Given the description of an element on the screen output the (x, y) to click on. 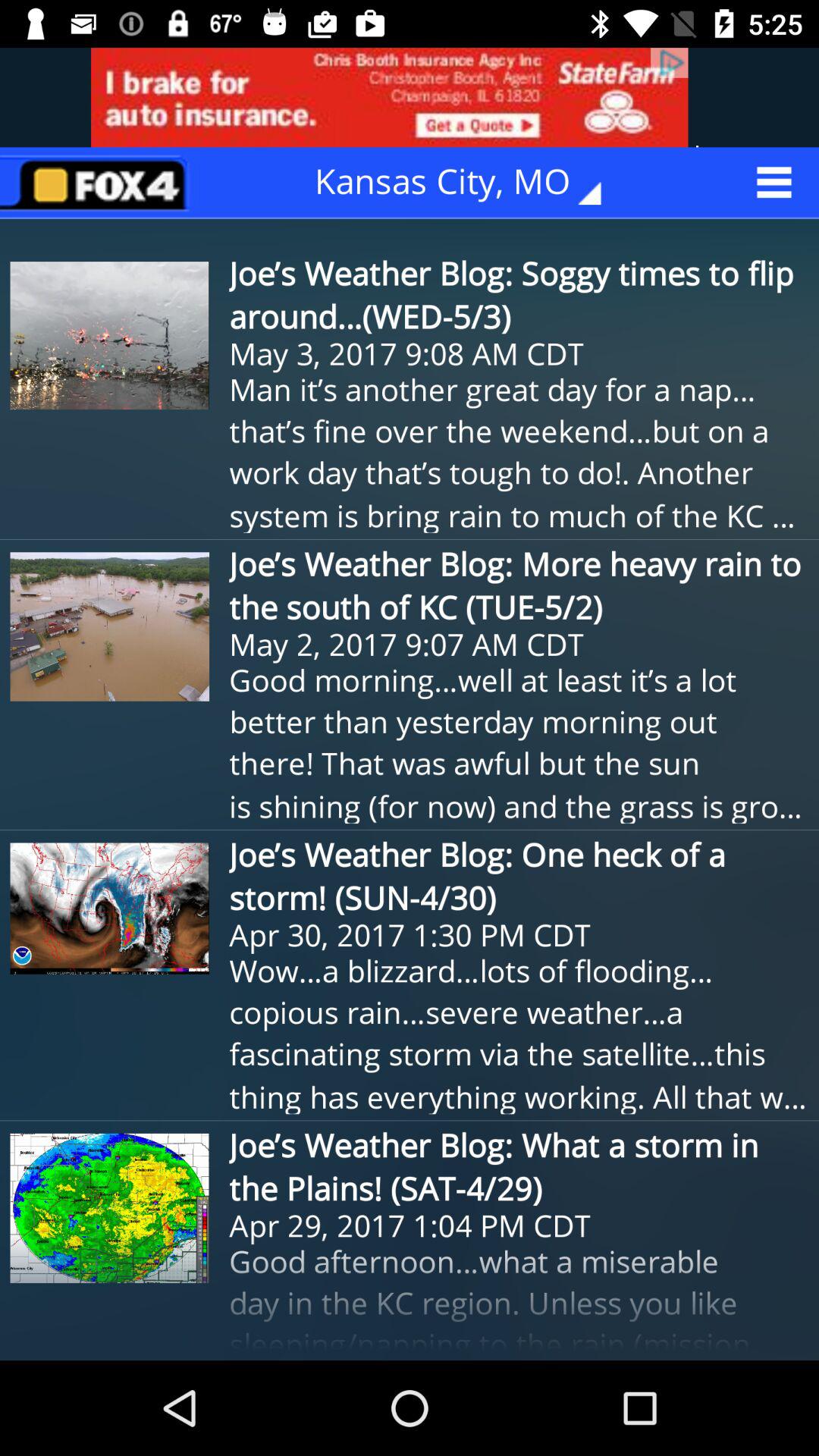
launch the item next to the kansas city, mo (99, 182)
